Given the description of an element on the screen output the (x, y) to click on. 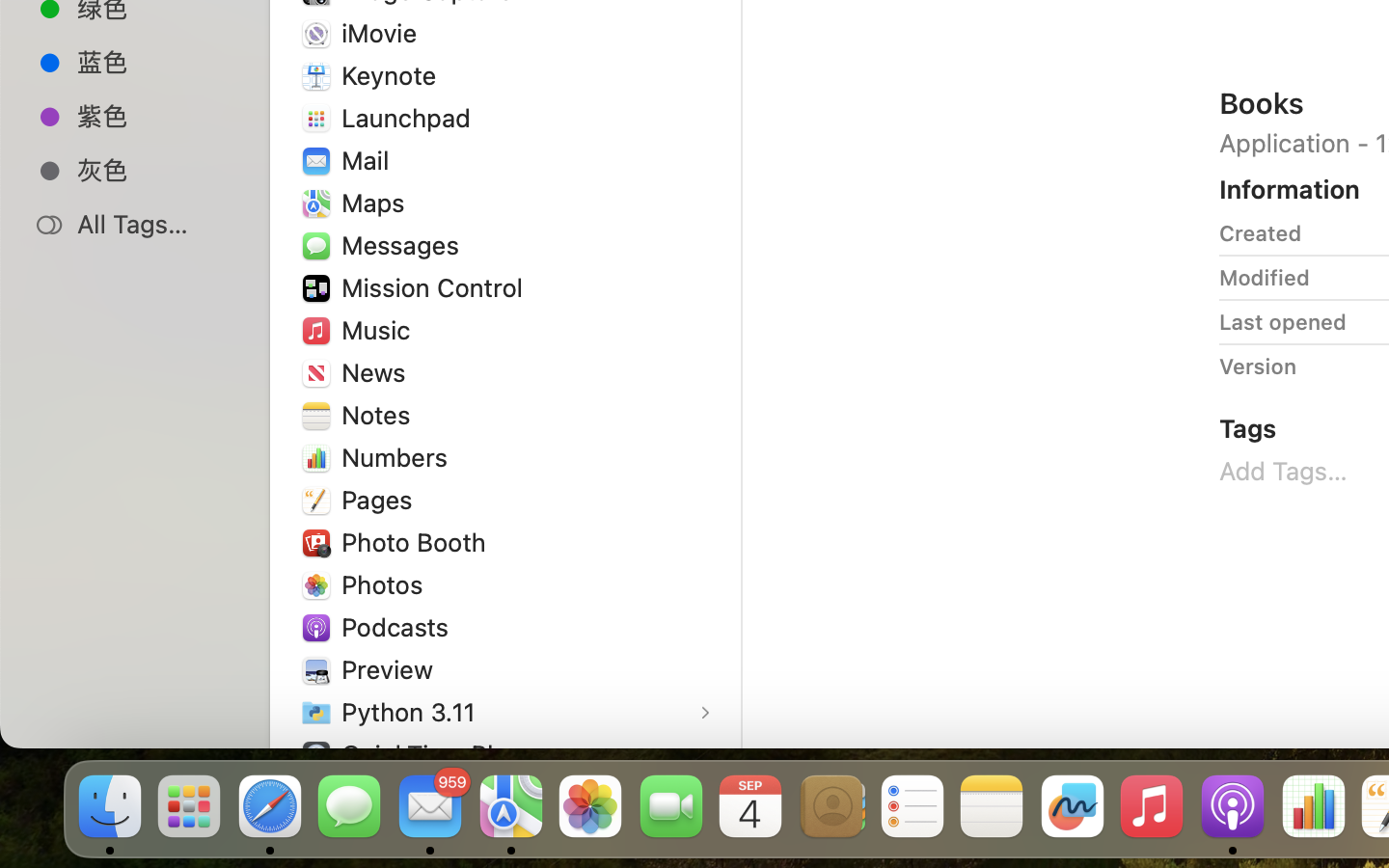
Created Element type: AXStaticText (1260, 232)
Preview Element type: AXTextField (391, 668)
Launchpad Element type: AXTextField (410, 117)
Python 3.11 Element type: AXTextField (412, 711)
News Element type: AXTextField (377, 371)
